Given the description of an element on the screen output the (x, y) to click on. 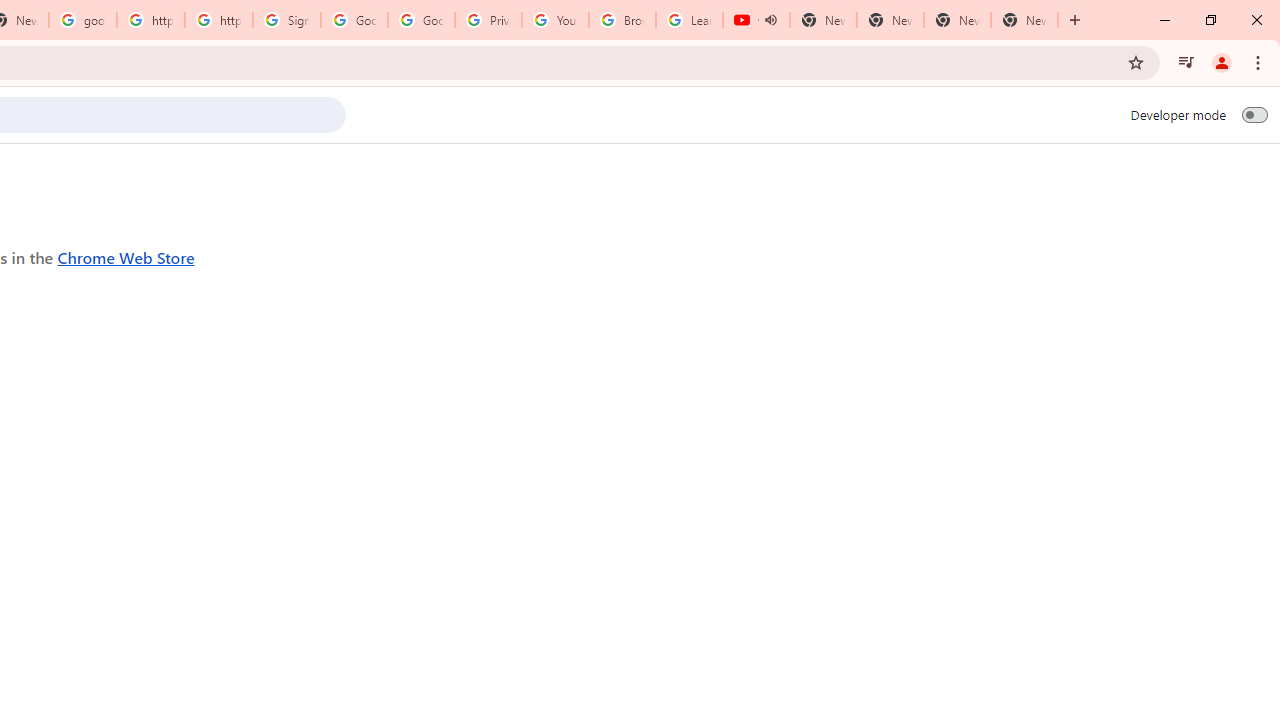
YouTube (555, 20)
Sign in - Google Accounts (287, 20)
https://scholar.google.com/ (219, 20)
https://scholar.google.com/ (150, 20)
Developer mode (1254, 114)
New Tab (1024, 20)
